Given the description of an element on the screen output the (x, y) to click on. 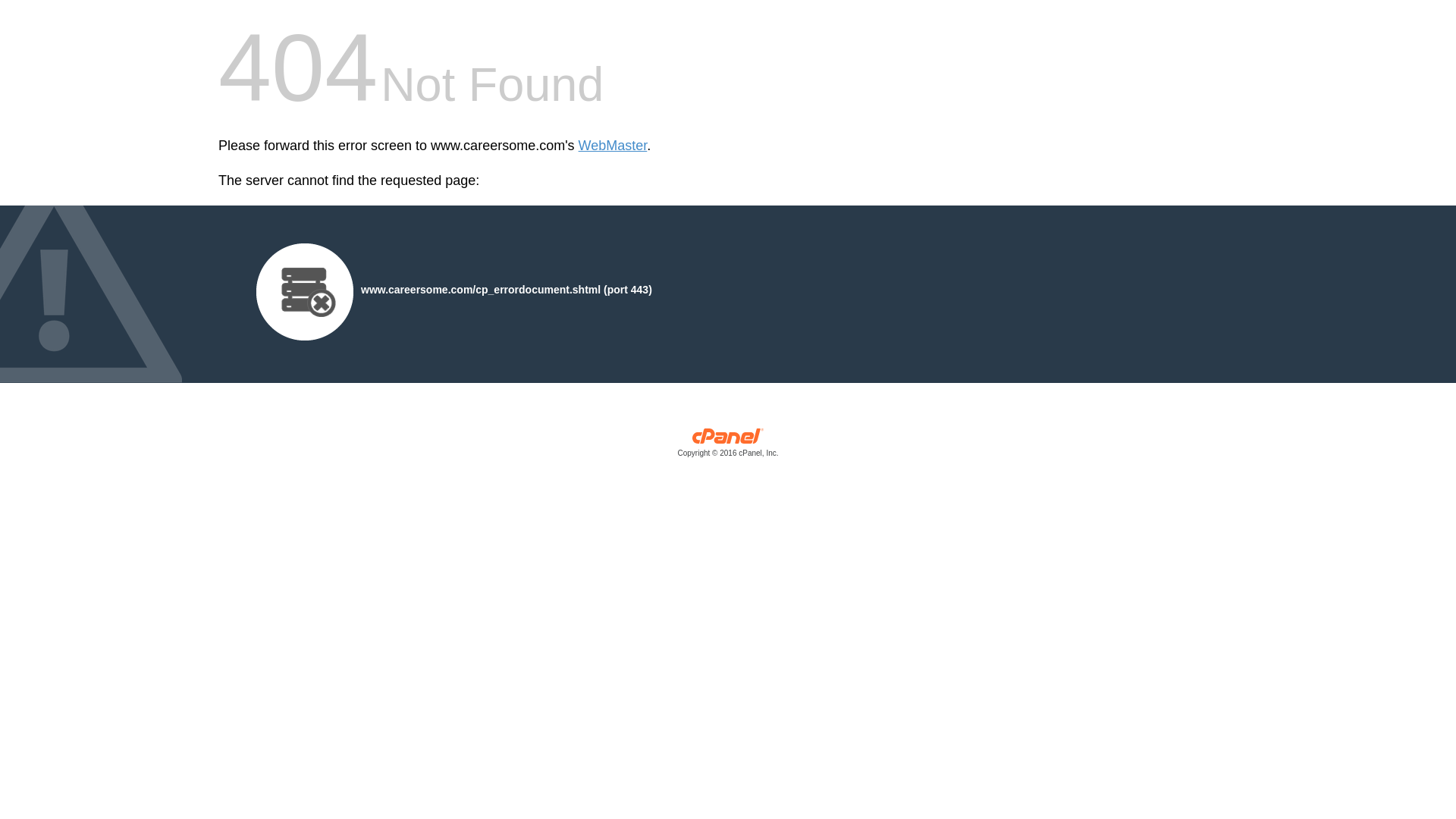
WebMaster (612, 145)
cPanel, Inc. (727, 446)
